Given the description of an element on the screen output the (x, y) to click on. 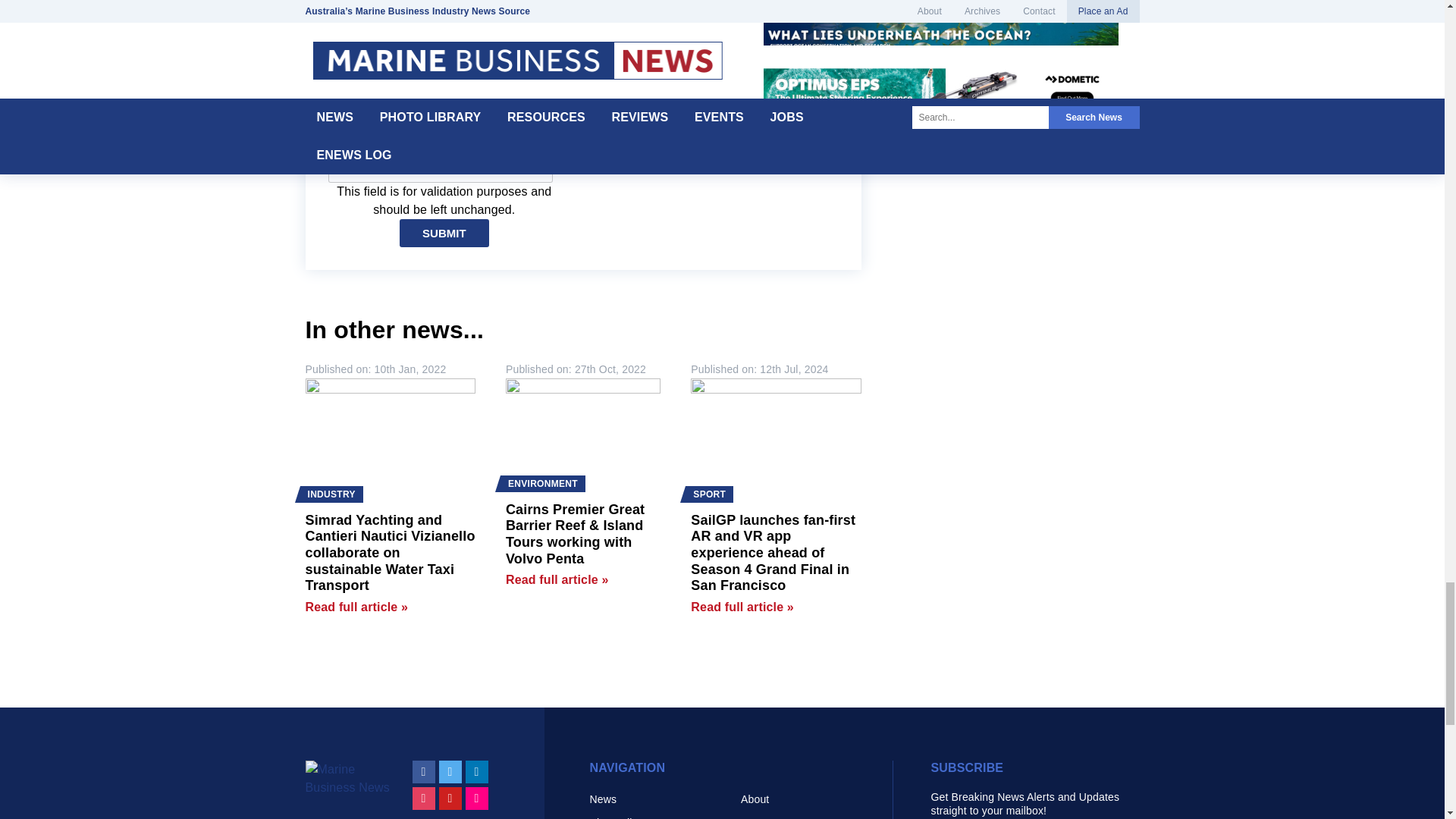
Submit (443, 233)
Submit (443, 233)
